Given the description of an element on the screen output the (x, y) to click on. 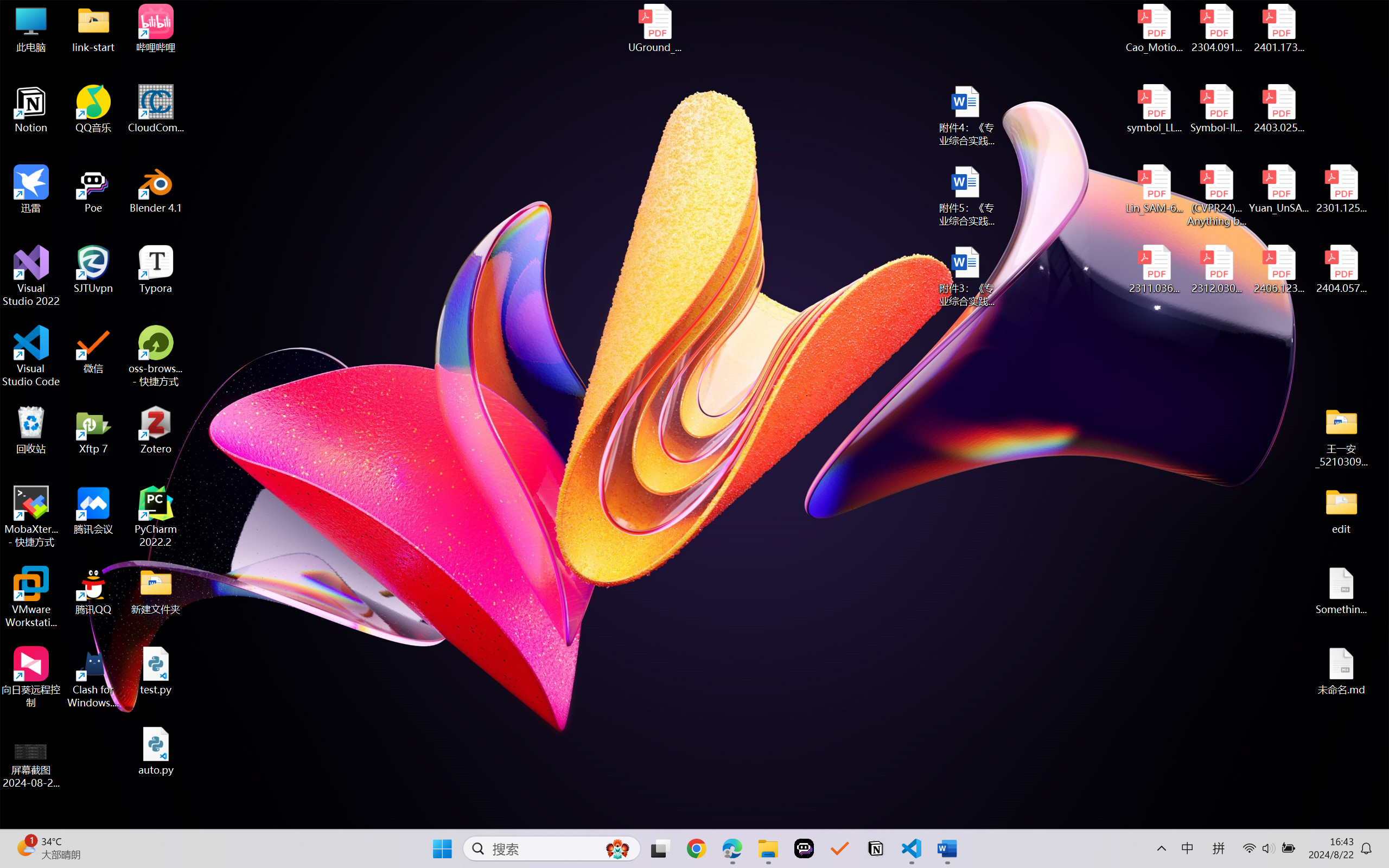
VMware Workstation Pro (31, 597)
